Given the description of an element on the screen output the (x, y) to click on. 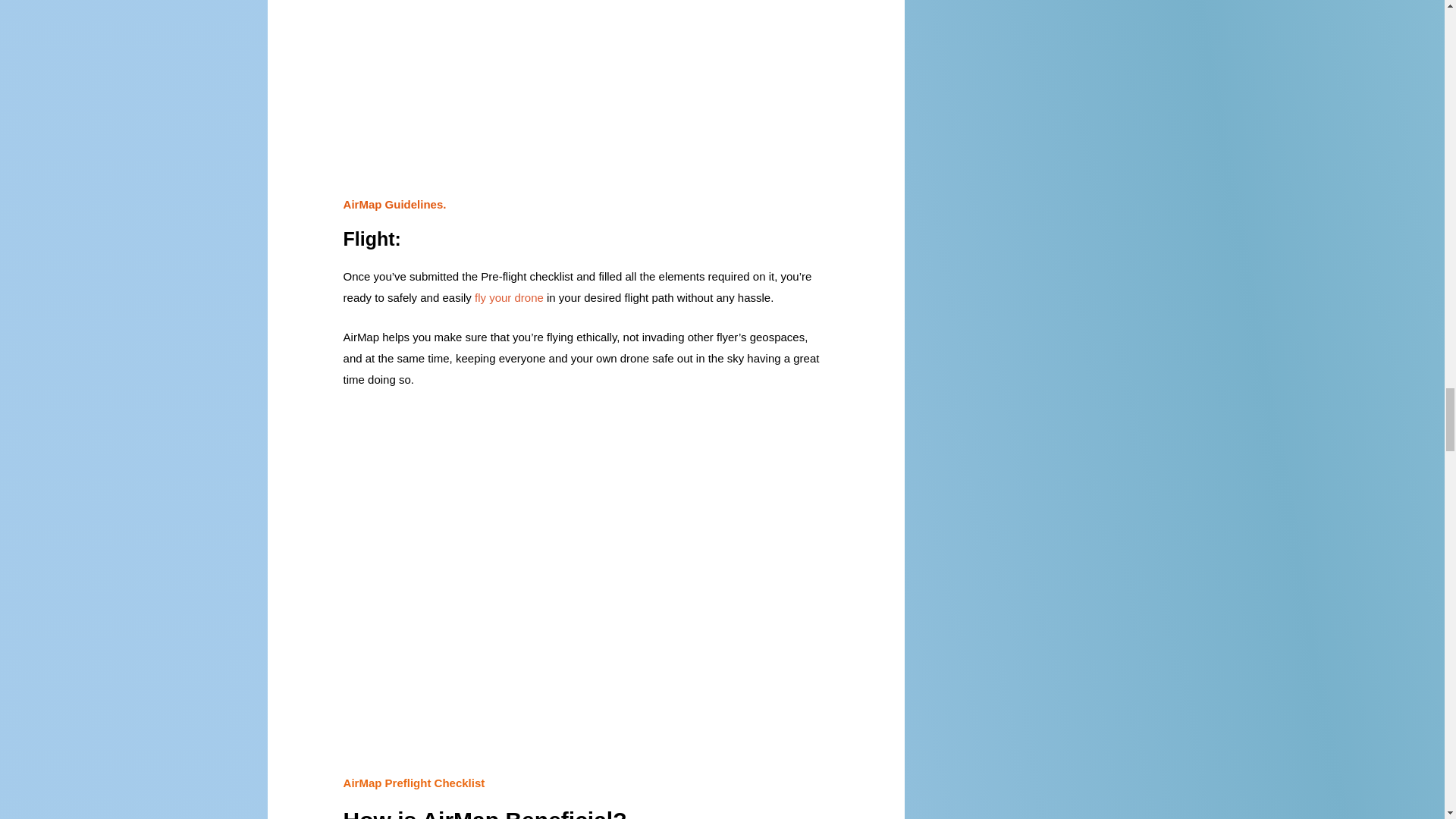
fly your drone (507, 297)
